Given the description of an element on the screen output the (x, y) to click on. 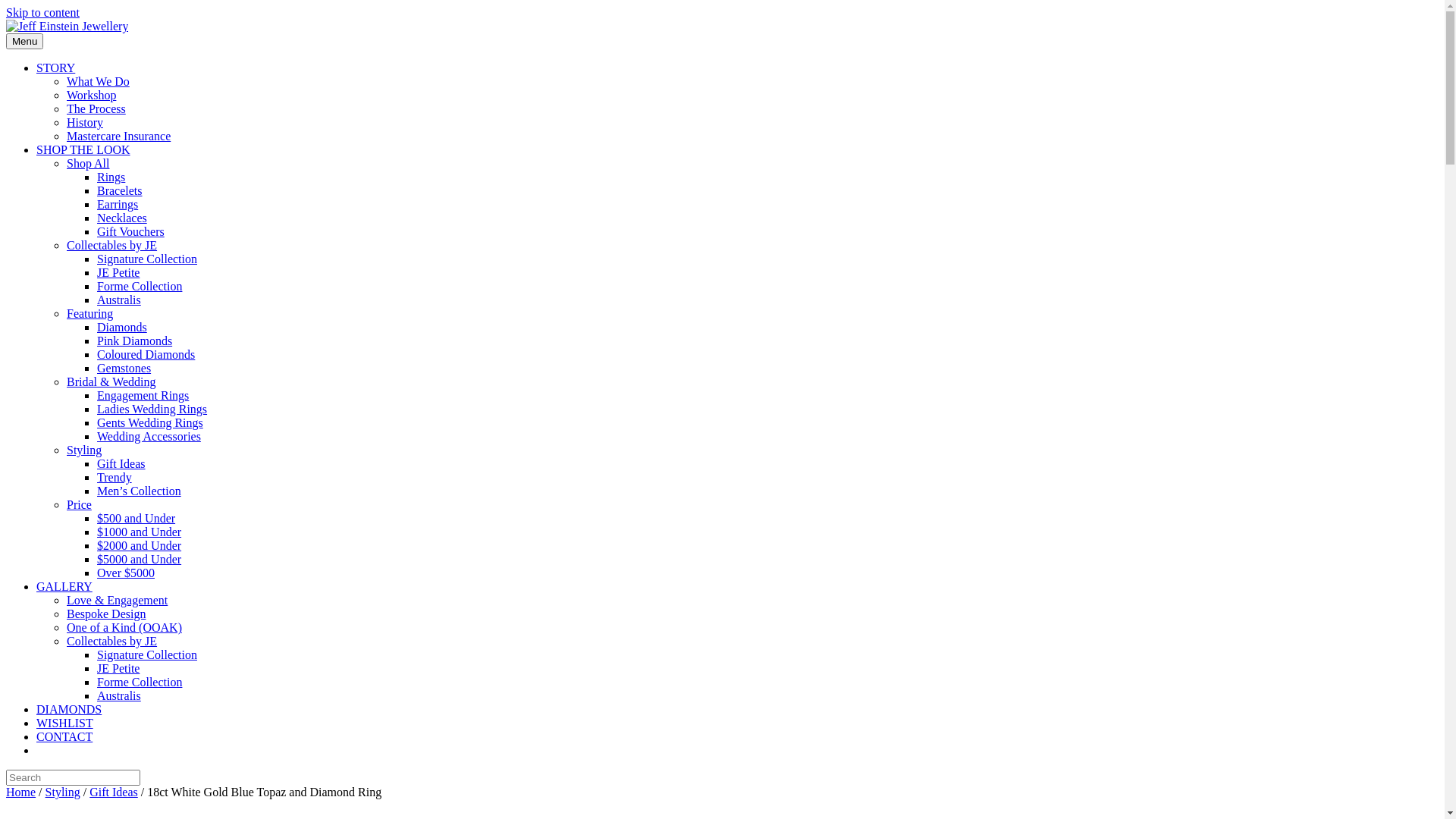
Collectables by JE Element type: text (111, 640)
Type and press Enter to search. Element type: hover (722, 777)
Bespoke Design Element type: text (105, 613)
WISHLIST Element type: text (64, 722)
Signature Collection Element type: text (147, 654)
STORY Element type: text (55, 67)
Featuring Element type: text (89, 313)
Gift Ideas Element type: text (113, 791)
Australis Element type: text (119, 299)
What We Do Element type: text (97, 81)
Shop All Element type: text (87, 162)
Forme Collection Element type: text (139, 681)
Collectables by JE Element type: text (111, 244)
Australis Element type: text (119, 695)
Earrings Element type: text (117, 203)
Styling Element type: text (62, 791)
DIAMONDS Element type: text (68, 708)
Home Element type: text (20, 791)
Necklaces Element type: text (122, 217)
$5000 and Under Element type: text (139, 558)
SHOP THE LOOK Element type: text (83, 149)
Pink Diamonds Element type: text (134, 340)
Gift Vouchers Element type: text (130, 231)
Price Element type: text (78, 504)
Ladies Wedding Rings Element type: text (152, 408)
GALLERY Element type: text (64, 586)
Love & Engagement Element type: text (116, 599)
Menu Element type: text (24, 41)
Rings Element type: text (111, 176)
Wedding Accessories Element type: text (148, 435)
CONTACT Element type: text (64, 736)
JE Petite Element type: text (118, 668)
Gents Wedding Rings Element type: text (150, 422)
Styling Element type: text (83, 449)
Coloured Diamonds Element type: text (145, 354)
Skip to content Element type: text (42, 12)
The Process Element type: text (95, 108)
$500 and Under Element type: text (136, 517)
Bracelets Element type: text (119, 190)
Forme Collection Element type: text (139, 285)
Gemstones Element type: text (123, 367)
Signature Collection Element type: text (147, 258)
Over $5000 Element type: text (125, 572)
Engagement Rings Element type: text (142, 395)
One of a Kind (OOAK) Element type: text (124, 627)
Bridal & Wedding Element type: text (111, 381)
Mastercare Insurance Element type: text (118, 135)
JE Petite Element type: text (118, 272)
Workshop Element type: text (91, 94)
Trendy Element type: text (114, 476)
History Element type: text (84, 122)
Diamonds Element type: text (122, 326)
Gift Ideas Element type: text (121, 463)
$2000 and Under Element type: text (139, 545)
$1000 and Under Element type: text (139, 531)
